Given the description of an element on the screen output the (x, y) to click on. 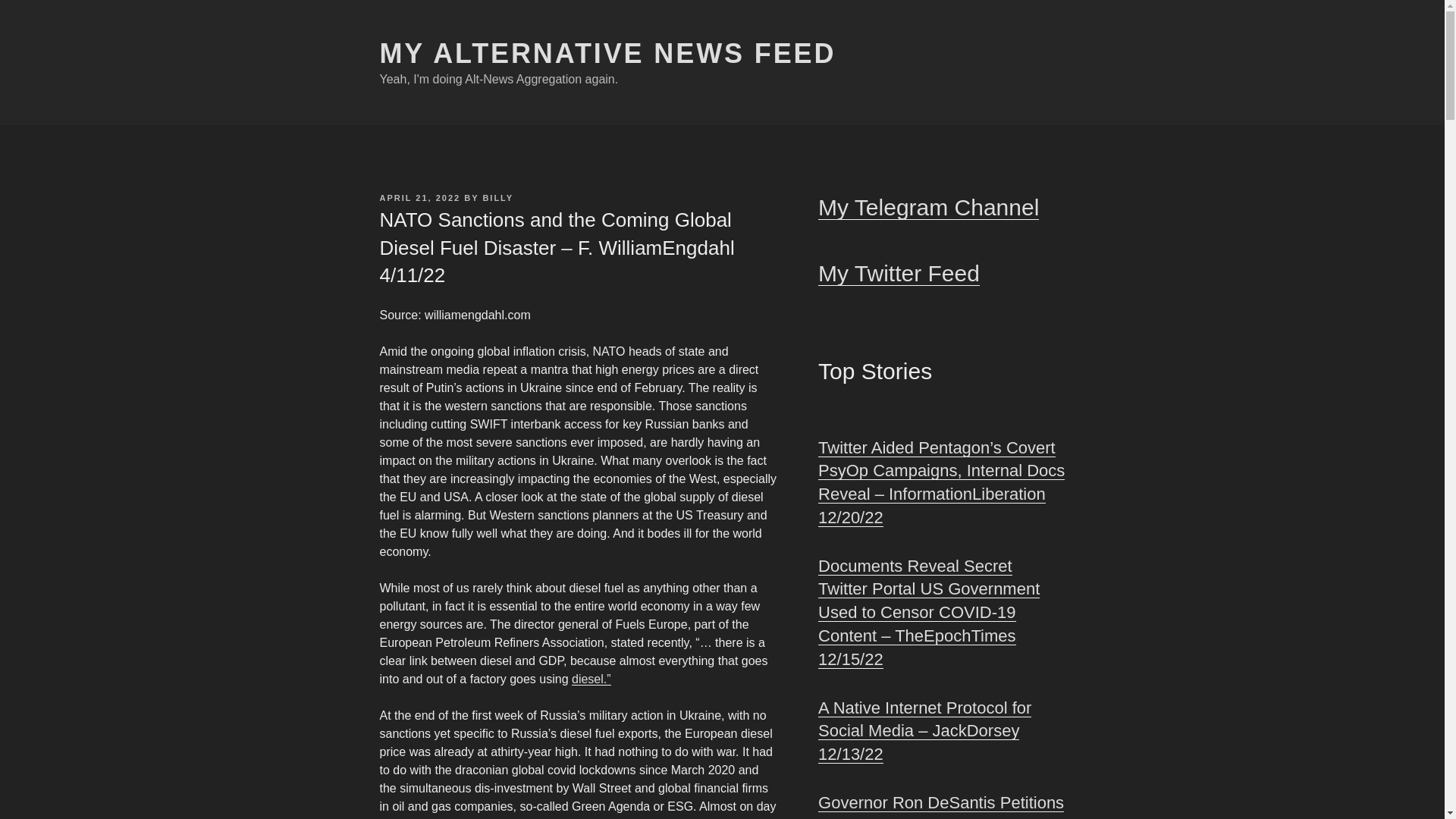
BILLY (497, 197)
My Telegram Channel (928, 207)
My Twitter Feed (898, 273)
MY ALTERNATIVE NEWS FEED (606, 52)
APRIL 21, 2022 (419, 197)
